Given the description of an element on the screen output the (x, y) to click on. 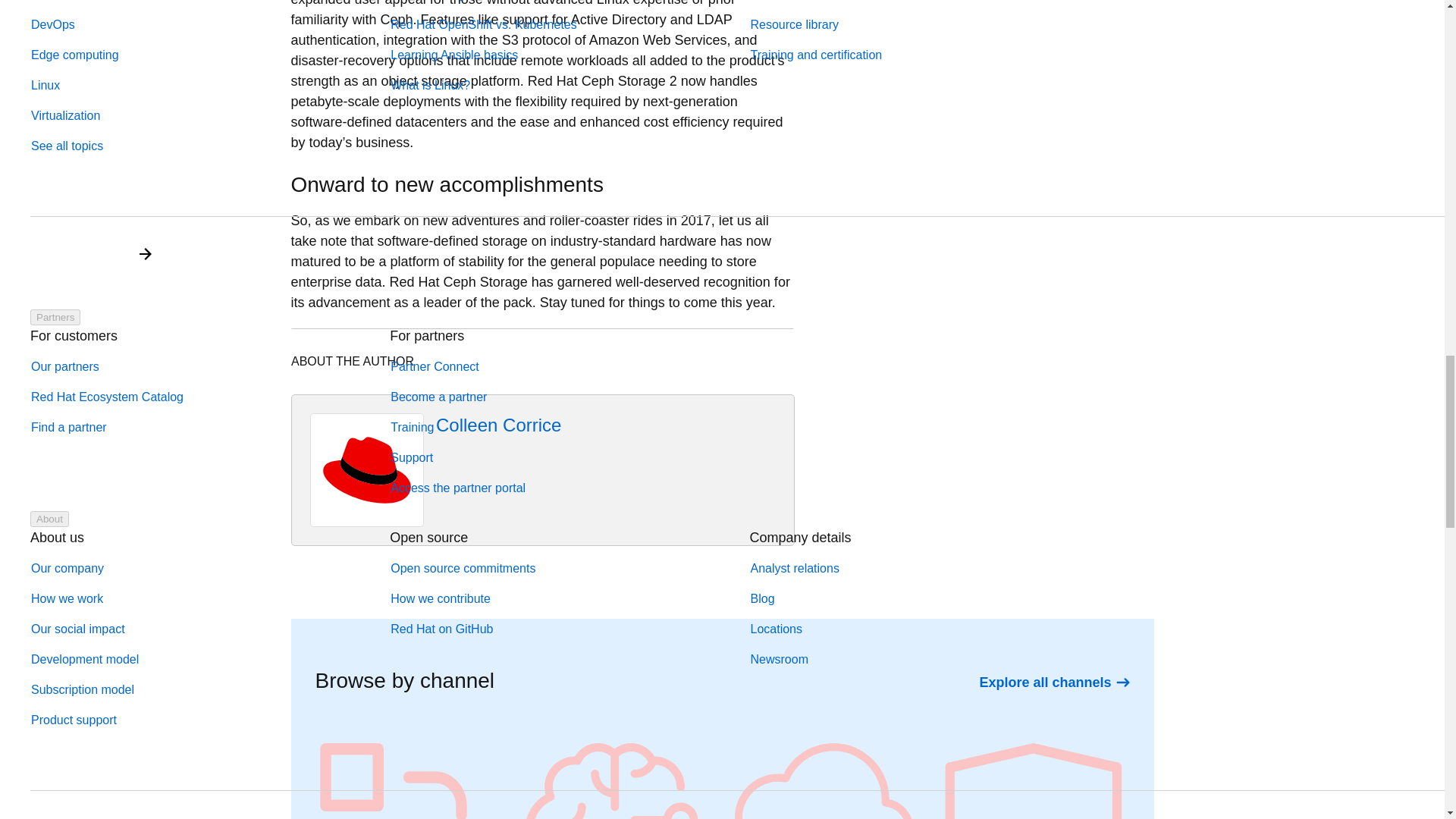
Explore all channels (1053, 682)
